Given the description of an element on the screen output the (x, y) to click on. 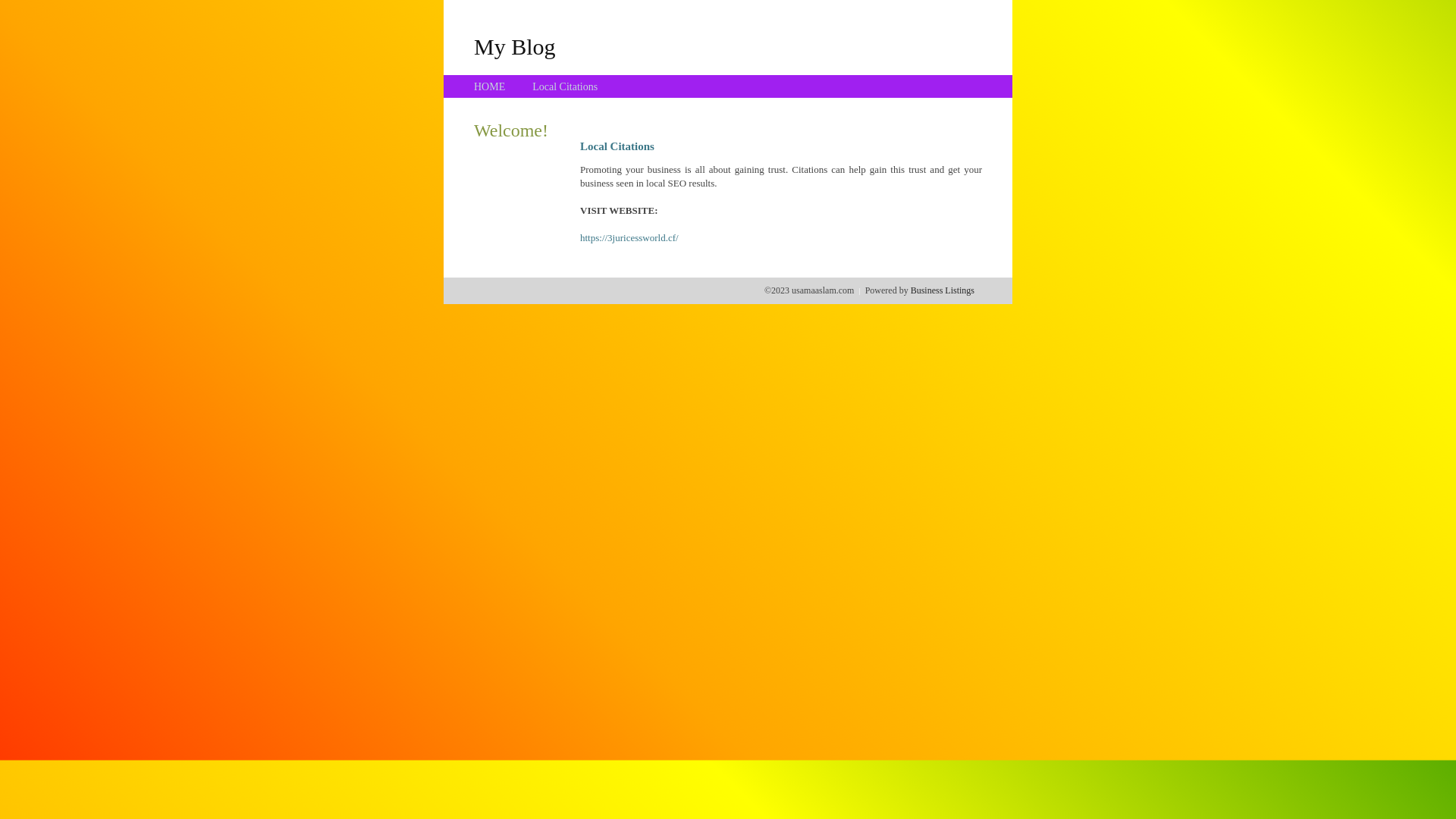
https://3juricessworld.cf/ Element type: text (629, 237)
Business Listings Element type: text (942, 290)
Local Citations Element type: text (564, 86)
HOME Element type: text (489, 86)
My Blog Element type: text (514, 46)
